Given the description of an element on the screen output the (x, y) to click on. 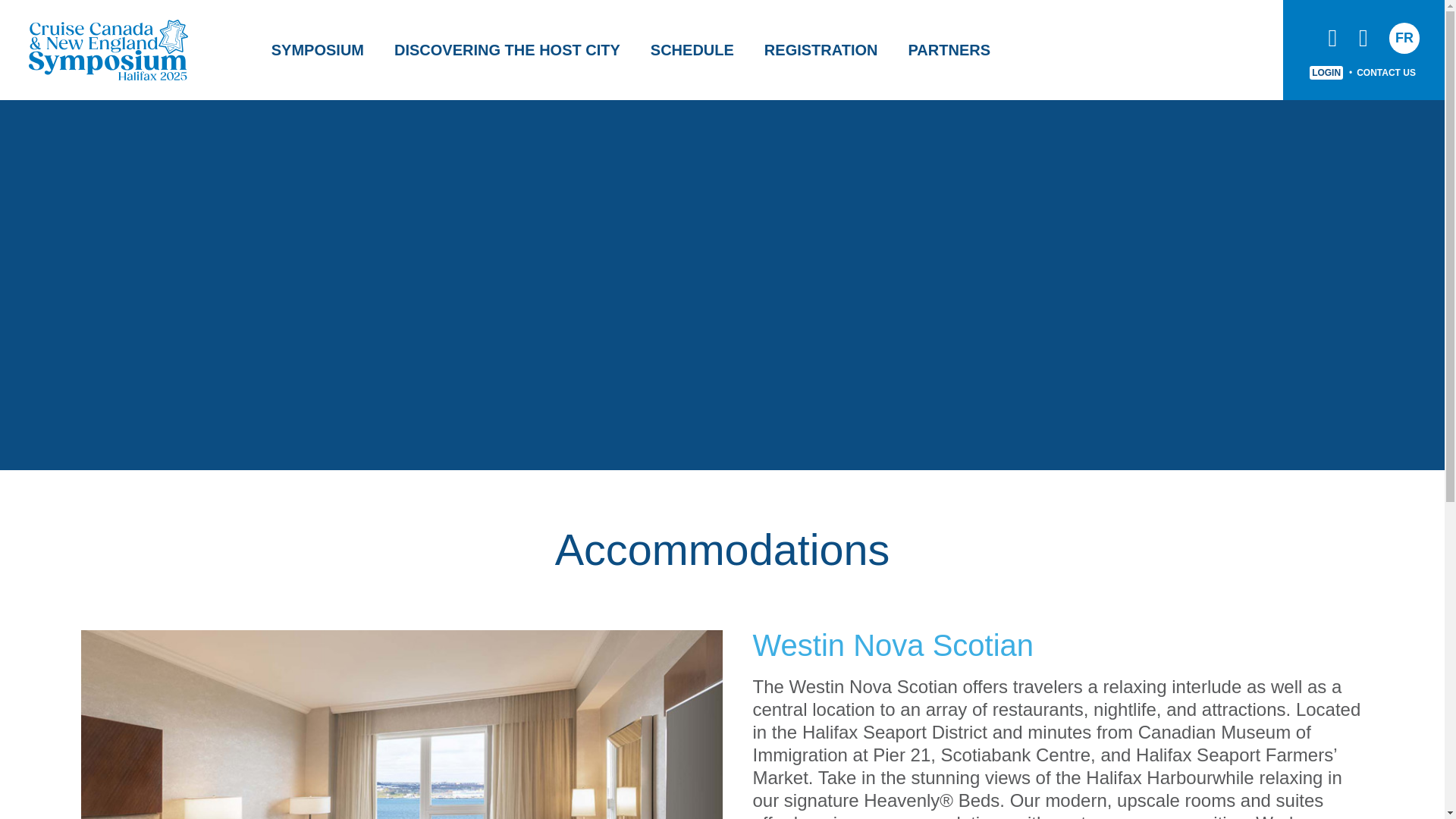
SCHEDULE (691, 50)
Facebook (1331, 37)
Instagram (1363, 37)
REGISTRATION (821, 50)
SYMPOSIUM (317, 50)
DISCOVERING THE HOST CITY (506, 50)
Facebook (1331, 37)
LOGIN (1325, 71)
FR (1405, 38)
CONTACT US (1386, 71)
